Given the description of an element on the screen output the (x, y) to click on. 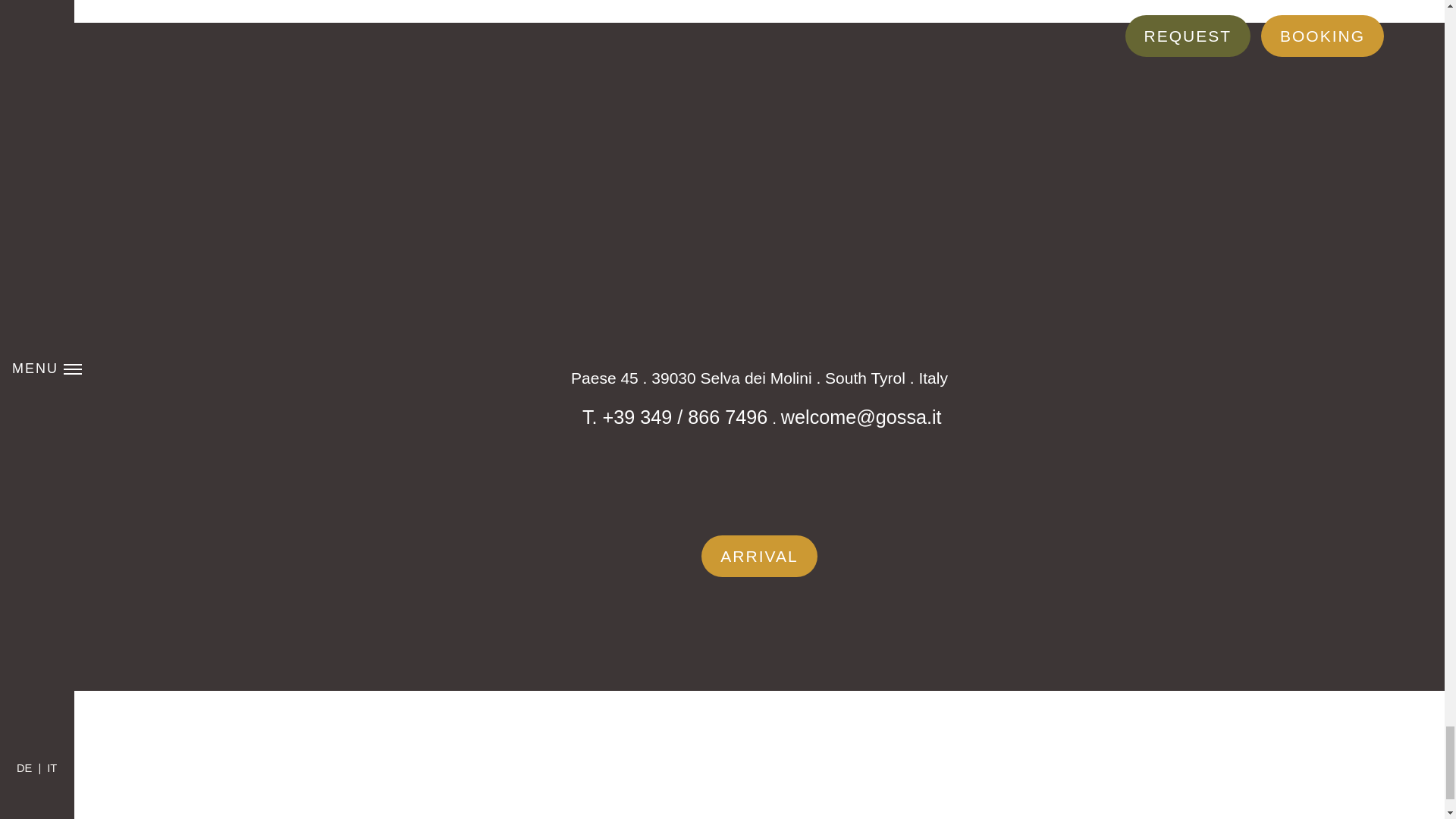
South Tyrol (683, 754)
Arrival (758, 556)
Weather (812, 470)
Valle Aurina (815, 751)
Facebook (705, 470)
Instagram (758, 470)
ARRIVAL (758, 556)
